Given the description of an element on the screen output the (x, y) to click on. 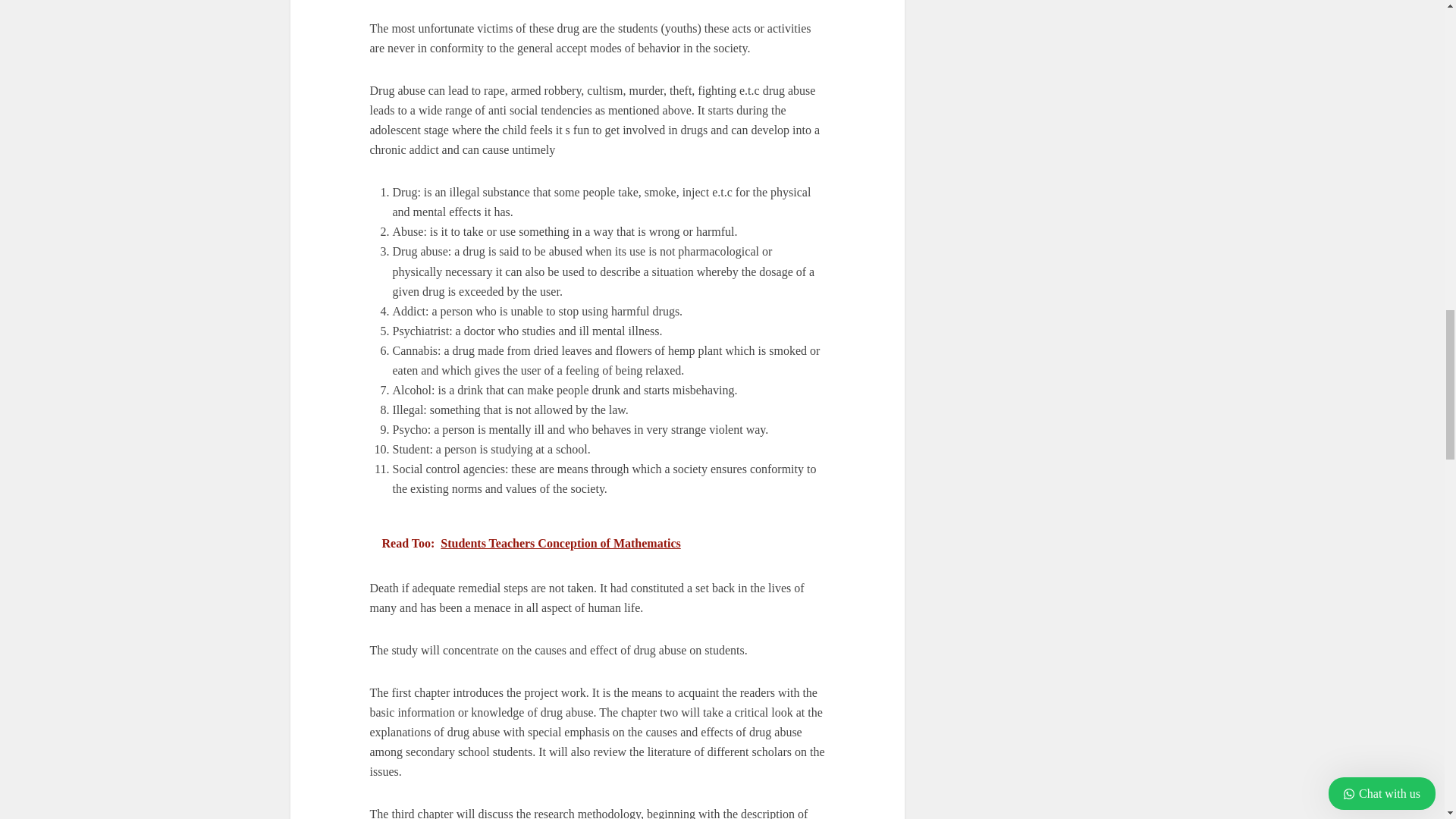
Read Too:  Students Teachers Conception of Mathematics (597, 543)
